Given the description of an element on the screen output the (x, y) to click on. 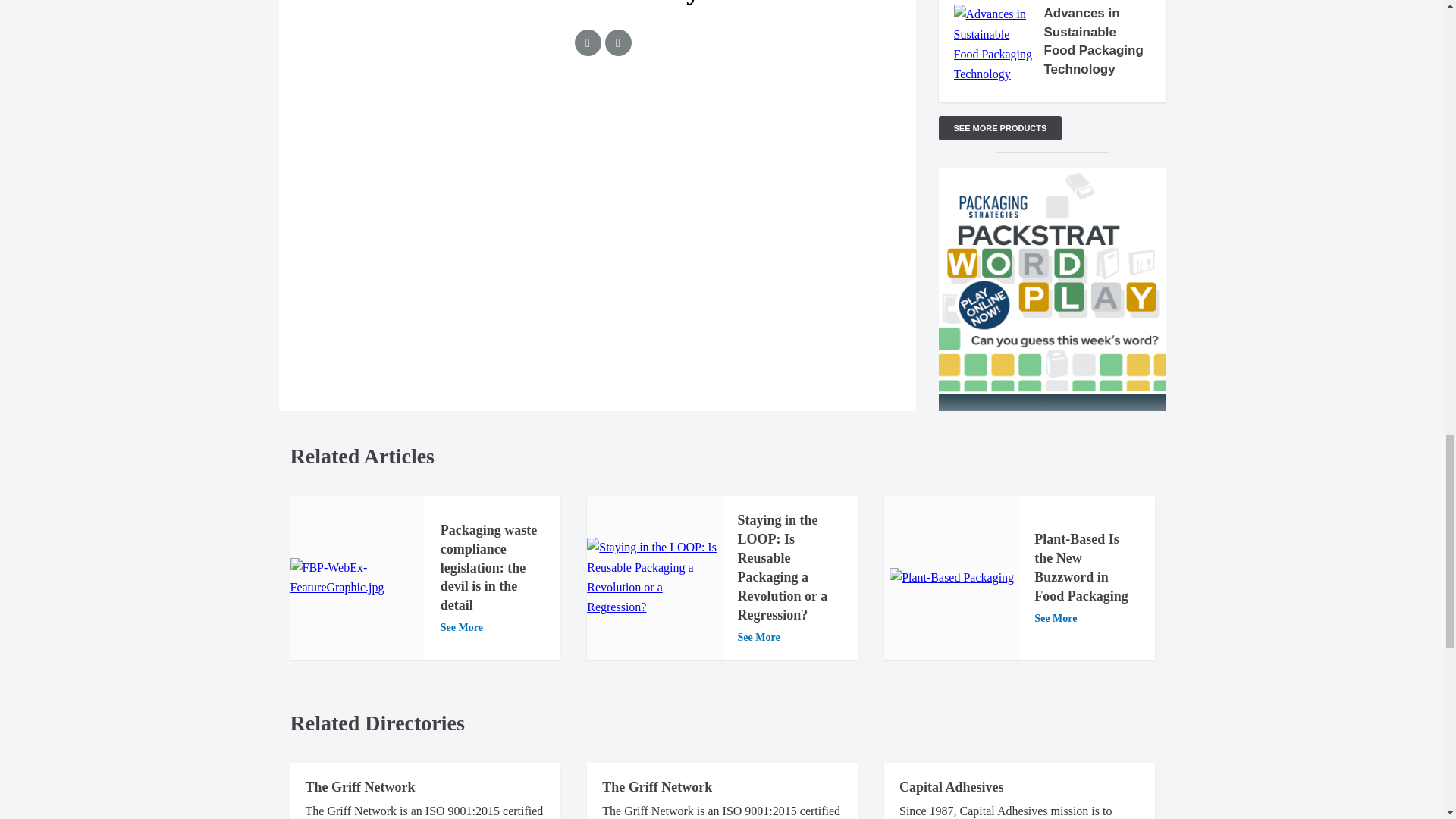
FBP-WebEx-FeatureGraphic.jpg (357, 577)
Plant-Based Packaging (951, 578)
